Given the description of an element on the screen output the (x, y) to click on. 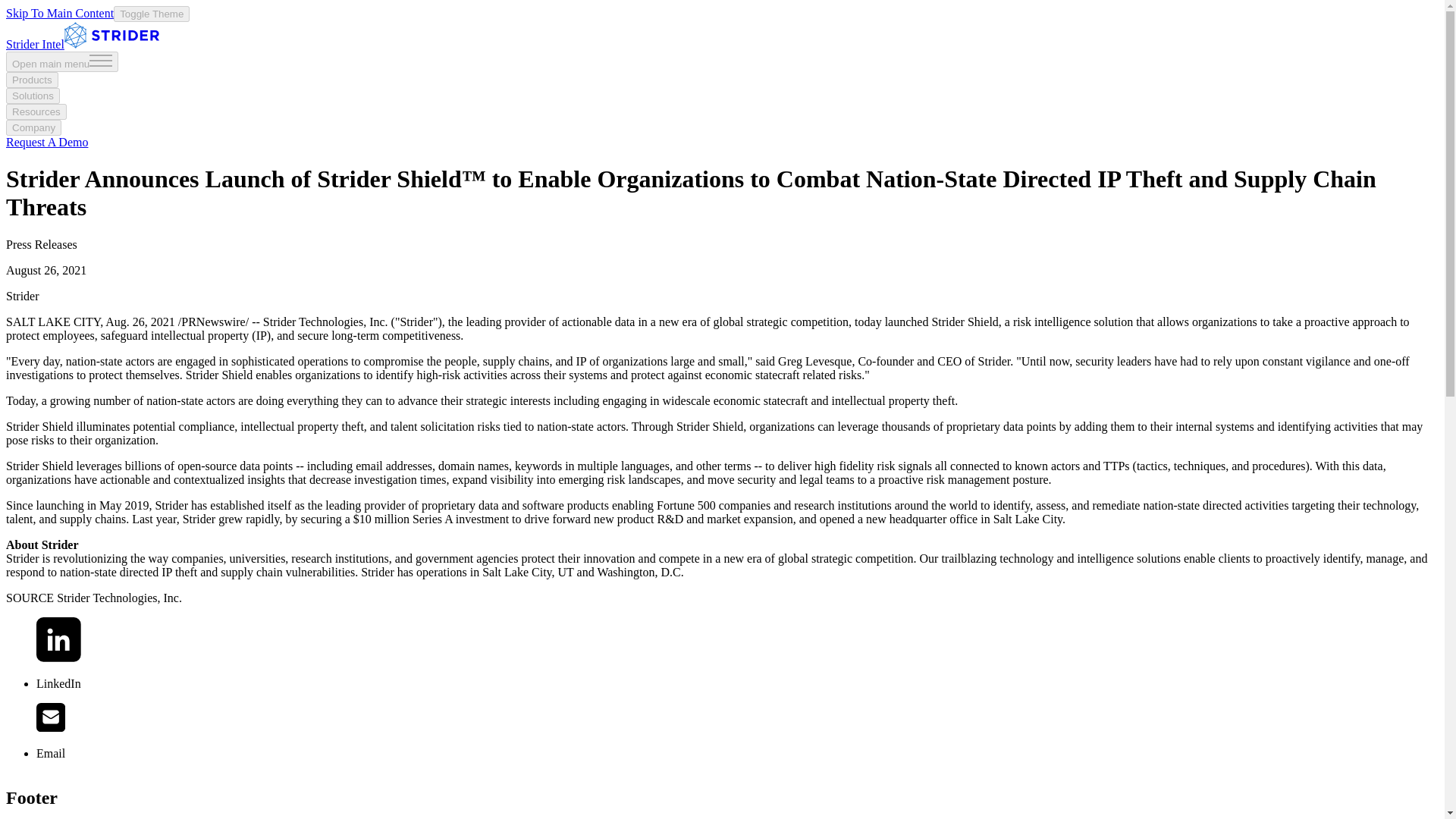
Solutions (32, 95)
Products (31, 79)
Toggle Theme (151, 13)
Request A Demo (46, 141)
Resources (35, 111)
Company (33, 127)
Strider Intel (81, 43)
Open main menu (61, 61)
Skip To Main Content (59, 12)
